Given the description of an element on the screen output the (x, y) to click on. 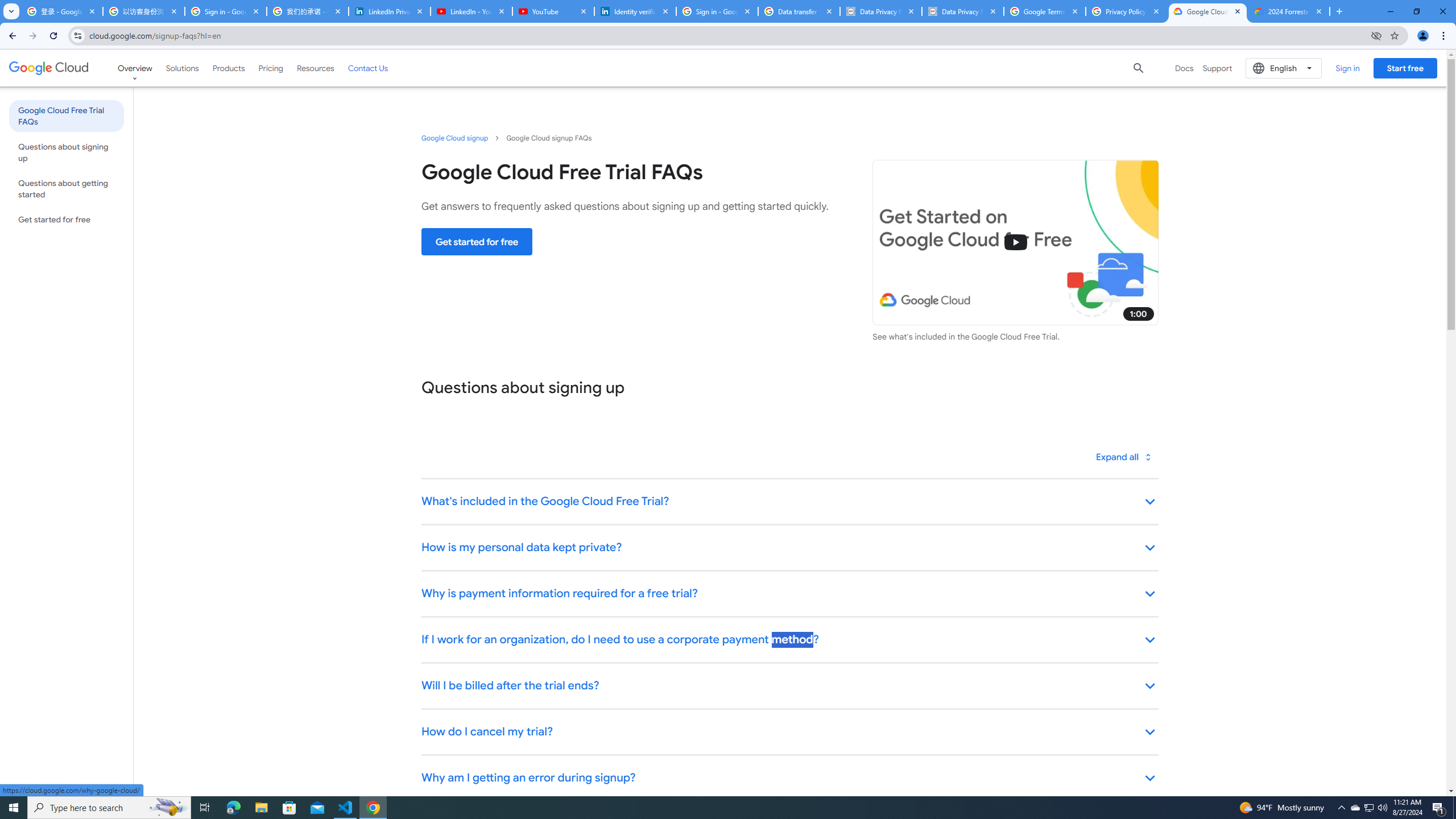
Data Privacy Framework (880, 11)
Google Cloud signup (454, 137)
Support (1216, 67)
Will I be billed after the trial ends? keyboard_arrow_down (789, 686)
LinkedIn - YouTube (470, 11)
How is my personal data kept private? keyboard_arrow_down (789, 547)
How do I cancel my trial? keyboard_arrow_down (789, 732)
Google Cloud Free Trial FAQs | Google Cloud (1207, 11)
Products (228, 67)
Sign in - Google Accounts (716, 11)
